Given the description of an element on the screen output the (x, y) to click on. 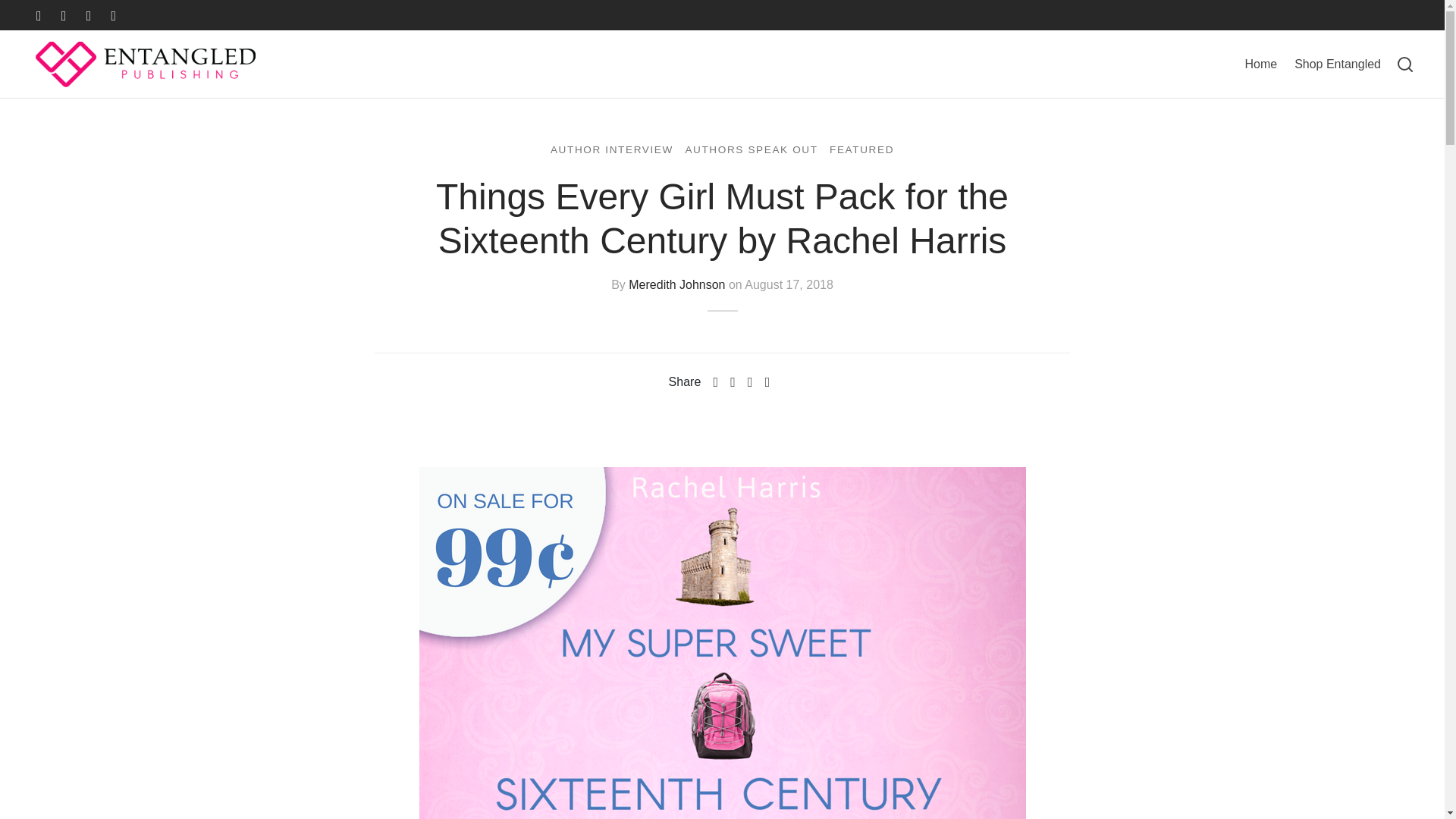
Shop Entangled (1337, 64)
FEATURED (861, 149)
twitter (63, 15)
facebook (39, 15)
Meredith Johnson (676, 284)
instagram (113, 15)
AUTHOR INTERVIEW (611, 149)
AUTHORS SPEAK OUT (750, 149)
pinterest (88, 15)
Posts by Meredith Johnson (676, 284)
